Given the description of an element on the screen output the (x, y) to click on. 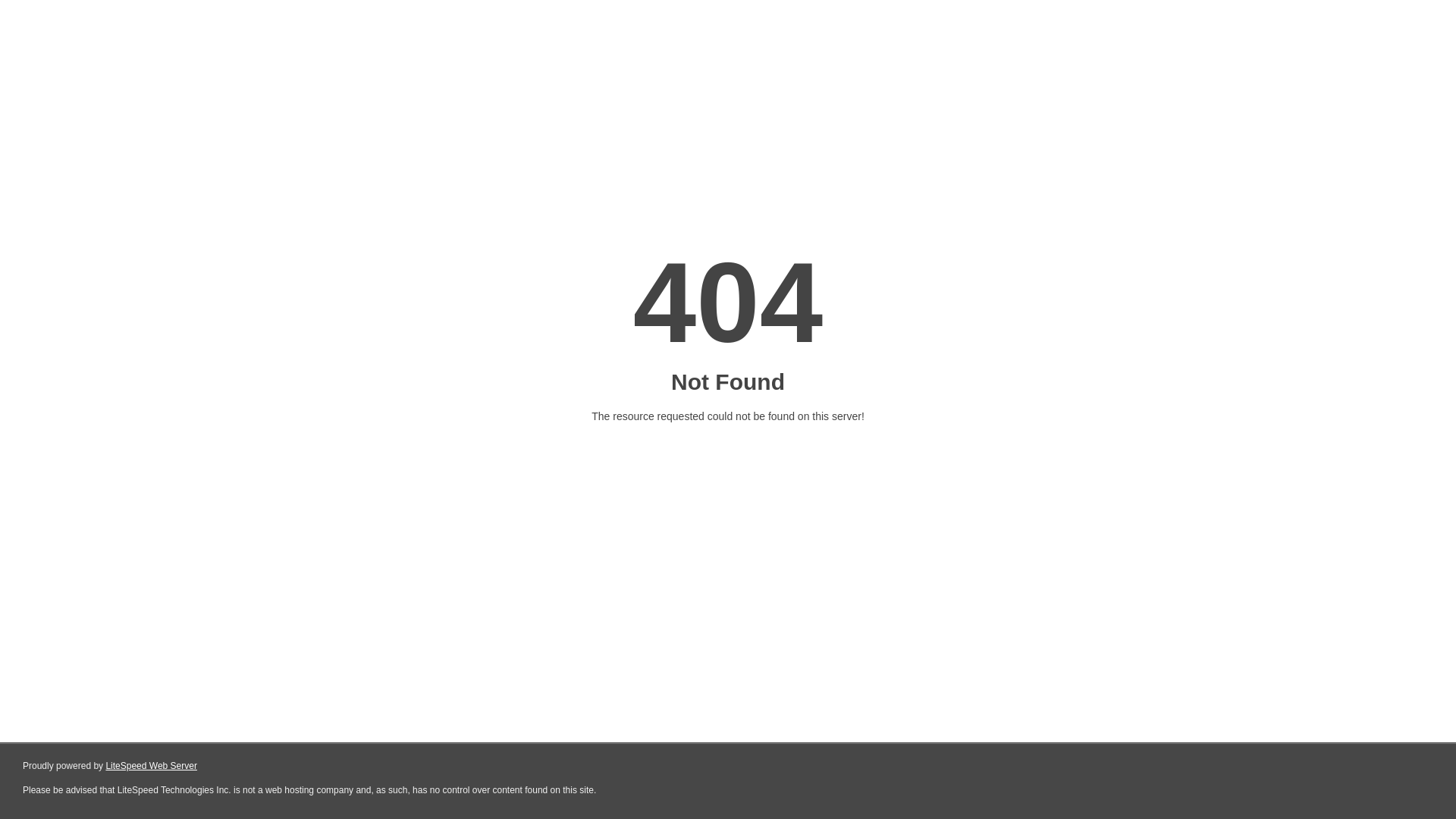
LiteSpeed Web Server Element type: text (151, 765)
